Given the description of an element on the screen output the (x, y) to click on. 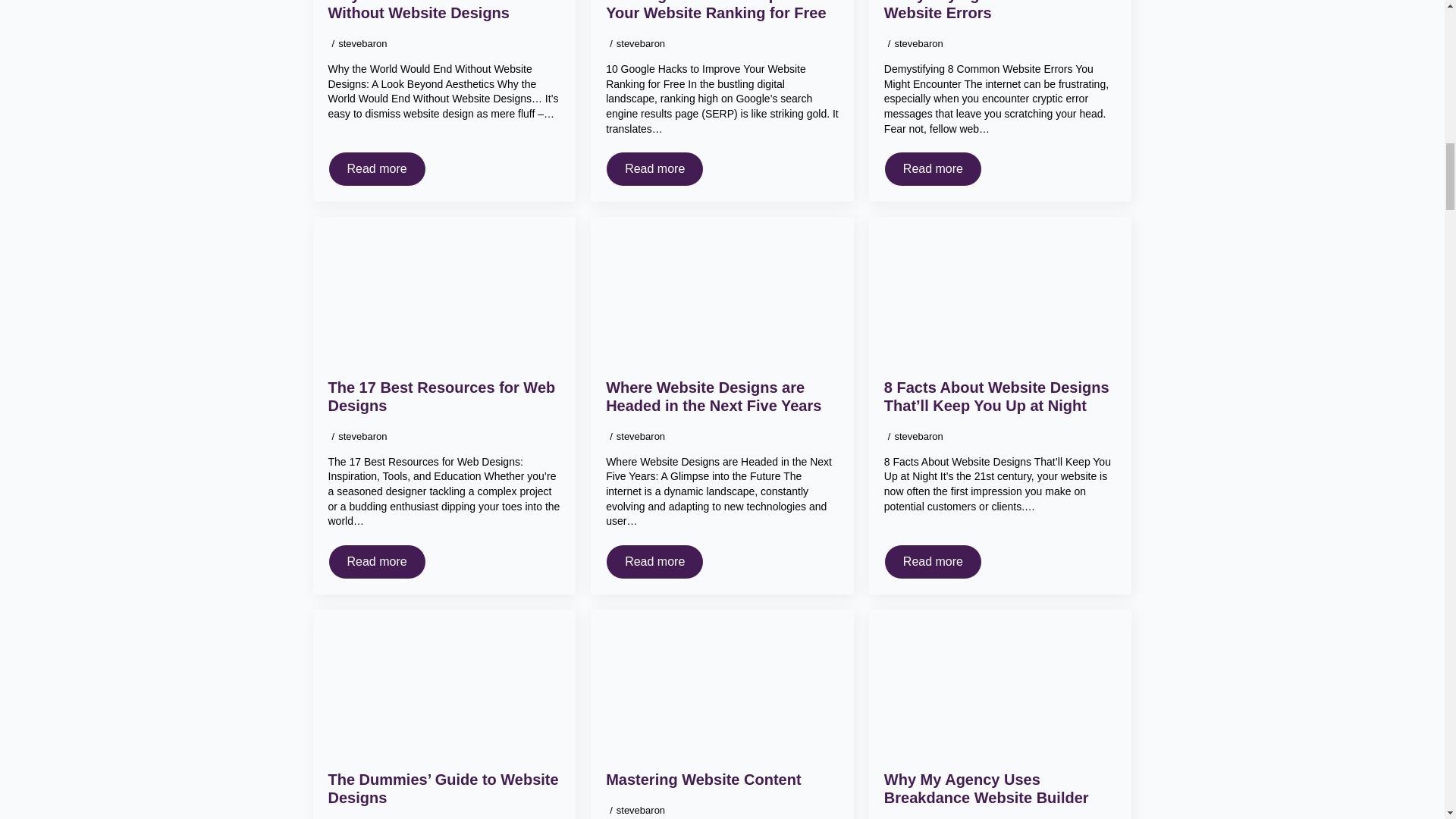
Demystifying 8 Common Website Errors (999, 11)
Where Website Designs are Headed in the Next Five Years (721, 396)
Read more (376, 561)
Read more (376, 168)
Read more (654, 168)
Read more (932, 168)
Why the World Would End Without Website Designs (443, 11)
10 Google Hacks to Improve Your Website Ranking for Free (721, 11)
The 17 Best Resources for Web Designs (443, 396)
